Given the description of an element on the screen output the (x, y) to click on. 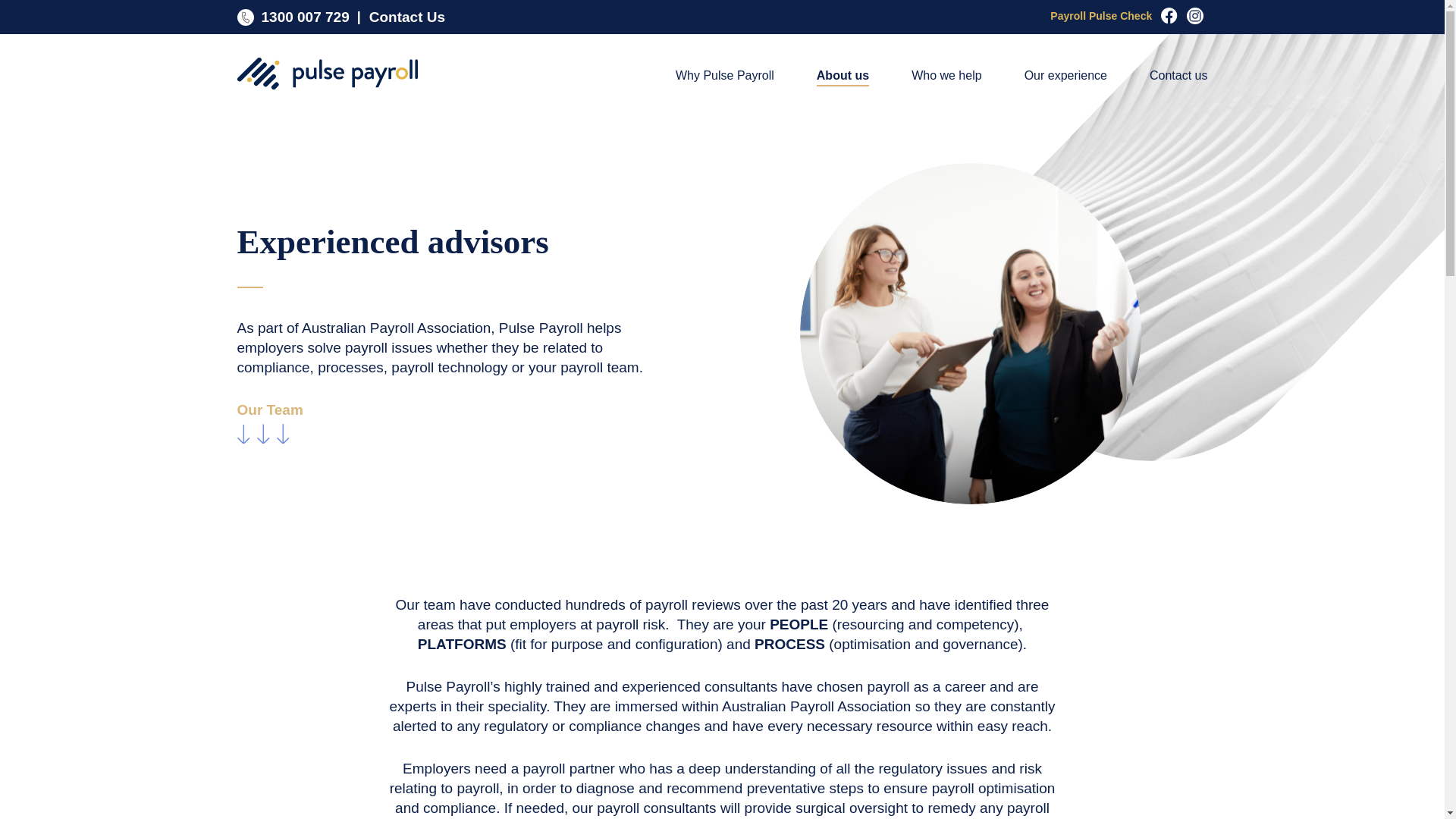
Contact Us (400, 17)
About us (842, 75)
Our experience (1065, 75)
Our Team (268, 424)
Why Pulse Payroll (724, 75)
Contact us (1178, 75)
1300 007 729 (295, 17)
Who we help (946, 75)
